Given the description of an element on the screen output the (x, y) to click on. 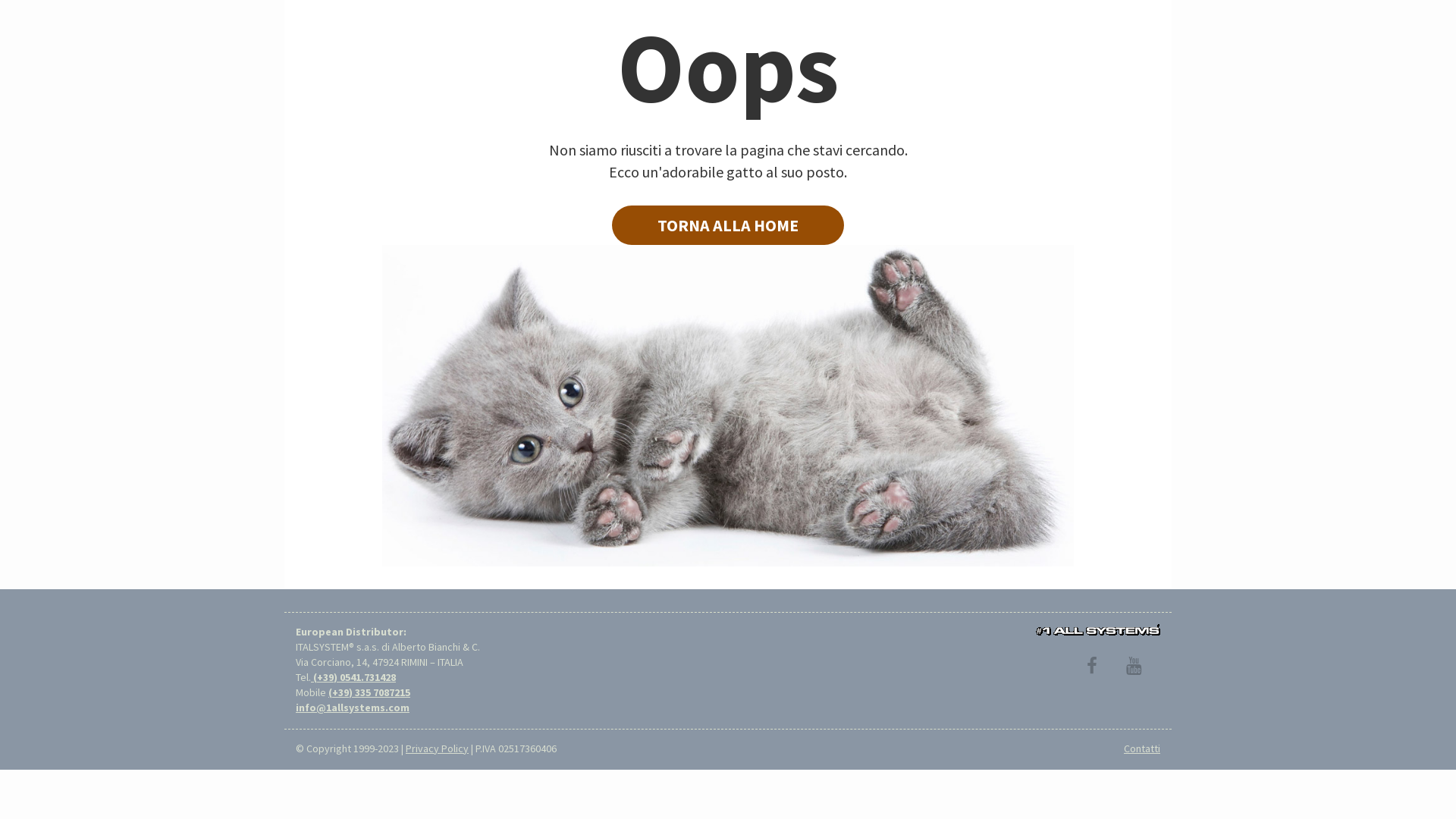
TORNA ALLA HOME Element type: text (727, 224)
Privacy Policy Element type: text (436, 748)
info@1allsystems.com Element type: text (352, 707)
Contatti Element type: text (1141, 748)
(+39) 335 7087215 Element type: text (369, 692)
(+39) 0541.731428 Element type: text (352, 677)
